Given the description of an element on the screen output the (x, y) to click on. 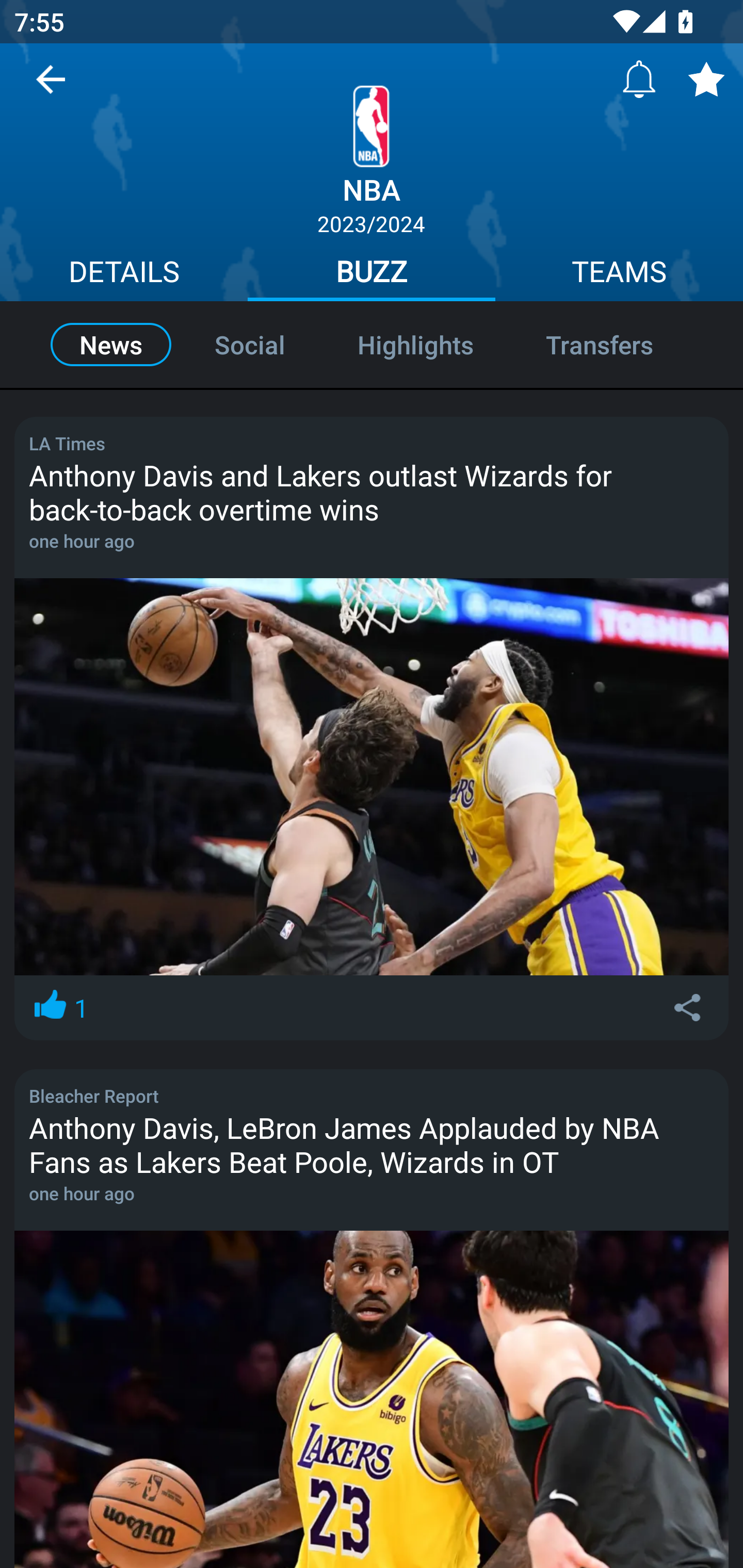
Navigate up (50, 86)
DETAILS (123, 274)
BUZZ (371, 274)
TEAMS (619, 274)
Social (249, 344)
Highlights (415, 344)
Transfers (621, 344)
1 (58, 1007)
